Given the description of an element on the screen output the (x, y) to click on. 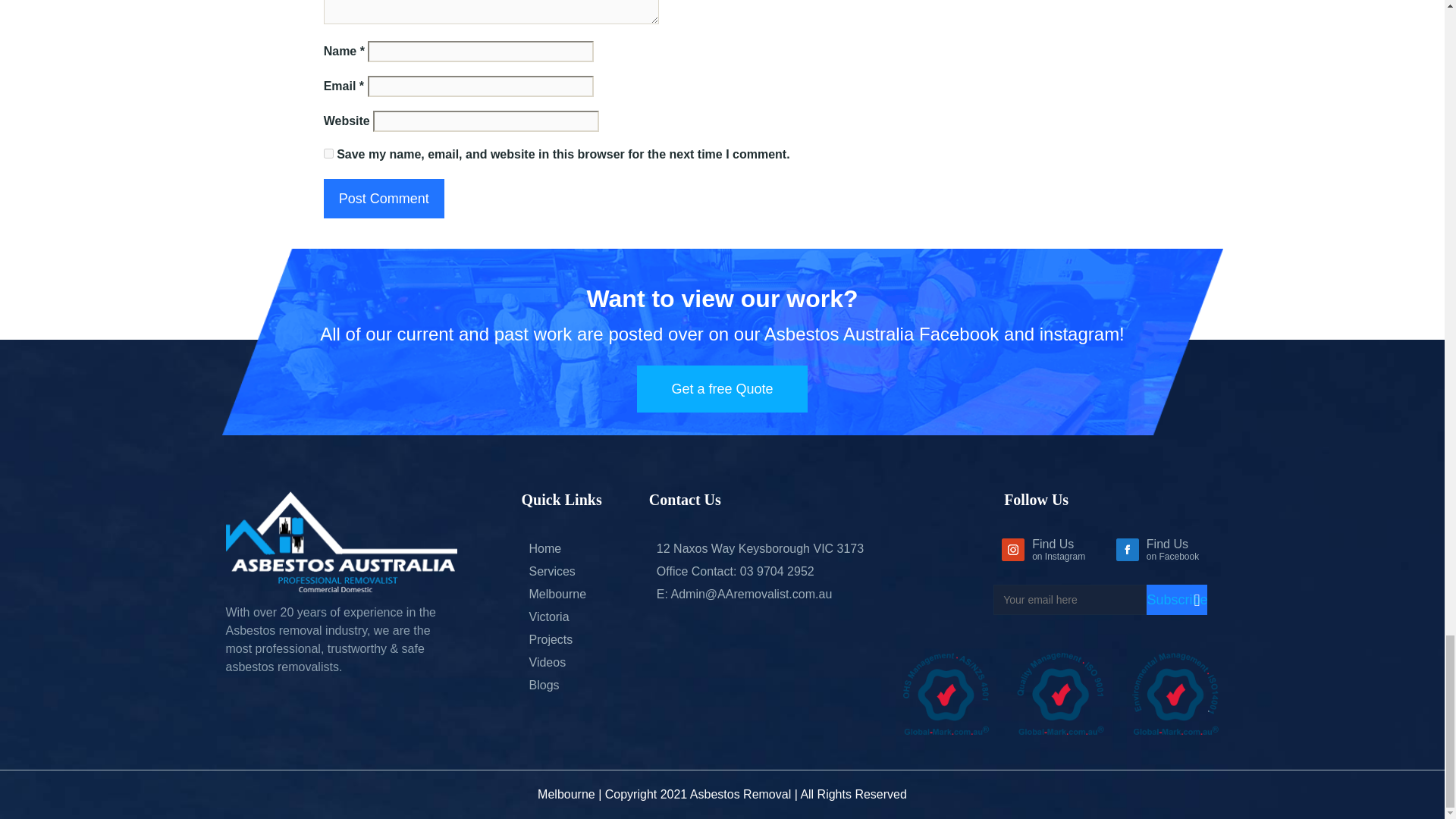
Post Comment (383, 198)
Subscribe (1177, 599)
yes (328, 153)
Asbestos Removal Victoria (549, 616)
